Given the description of an element on the screen output the (x, y) to click on. 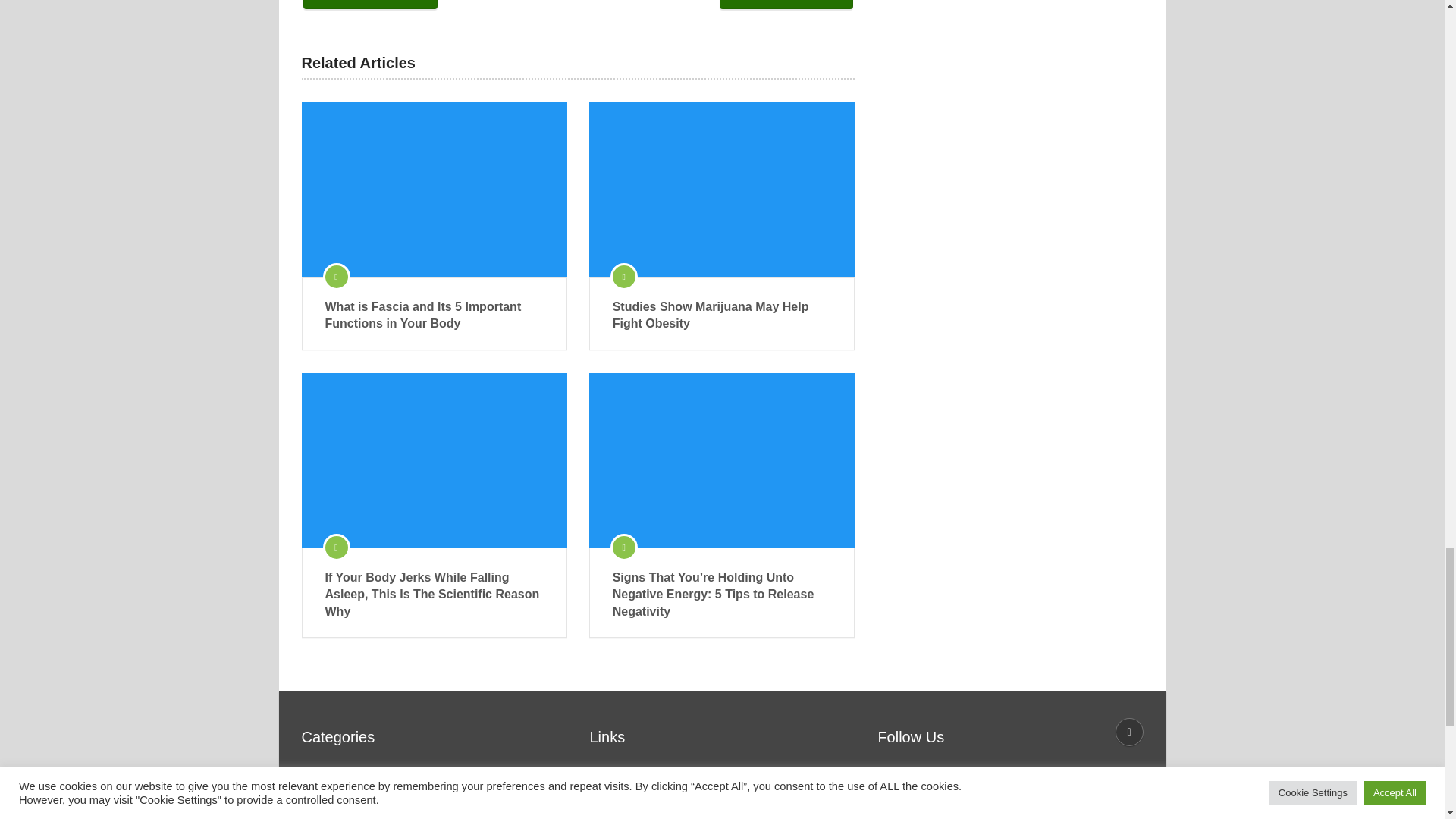
PREV ARTICLE (370, 4)
NEXT ARTICLE (786, 4)
Studies Show Marijuana May Help Fight Obesity (721, 315)
What is Fascia and Its 5 Important Functions in Your Body (433, 315)
What is Fascia and Its 5 Important Functions in Your Body (433, 315)
What is Fascia and Its 5 Important Functions in Your Body (434, 189)
